Given the description of an element on the screen output the (x, y) to click on. 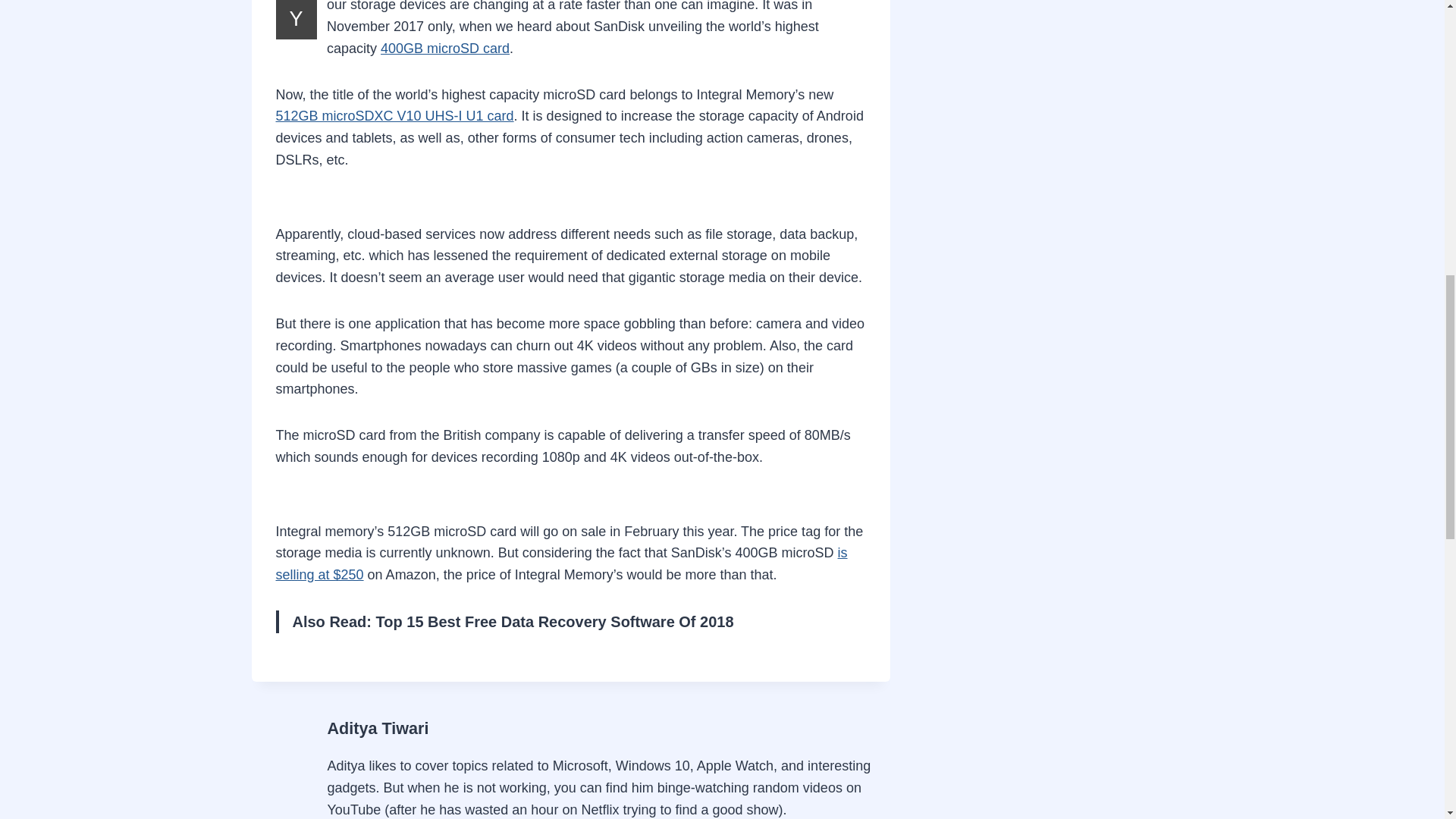
Aditya Tiwari (378, 728)
400GB microSD card (444, 48)
Top 15 Best Free Data Recovery Software Of 2018 (554, 621)
512GB microSDXC V10 UHS-I U1 card (394, 115)
Posts by Aditya Tiwari (378, 728)
